Given the description of an element on the screen output the (x, y) to click on. 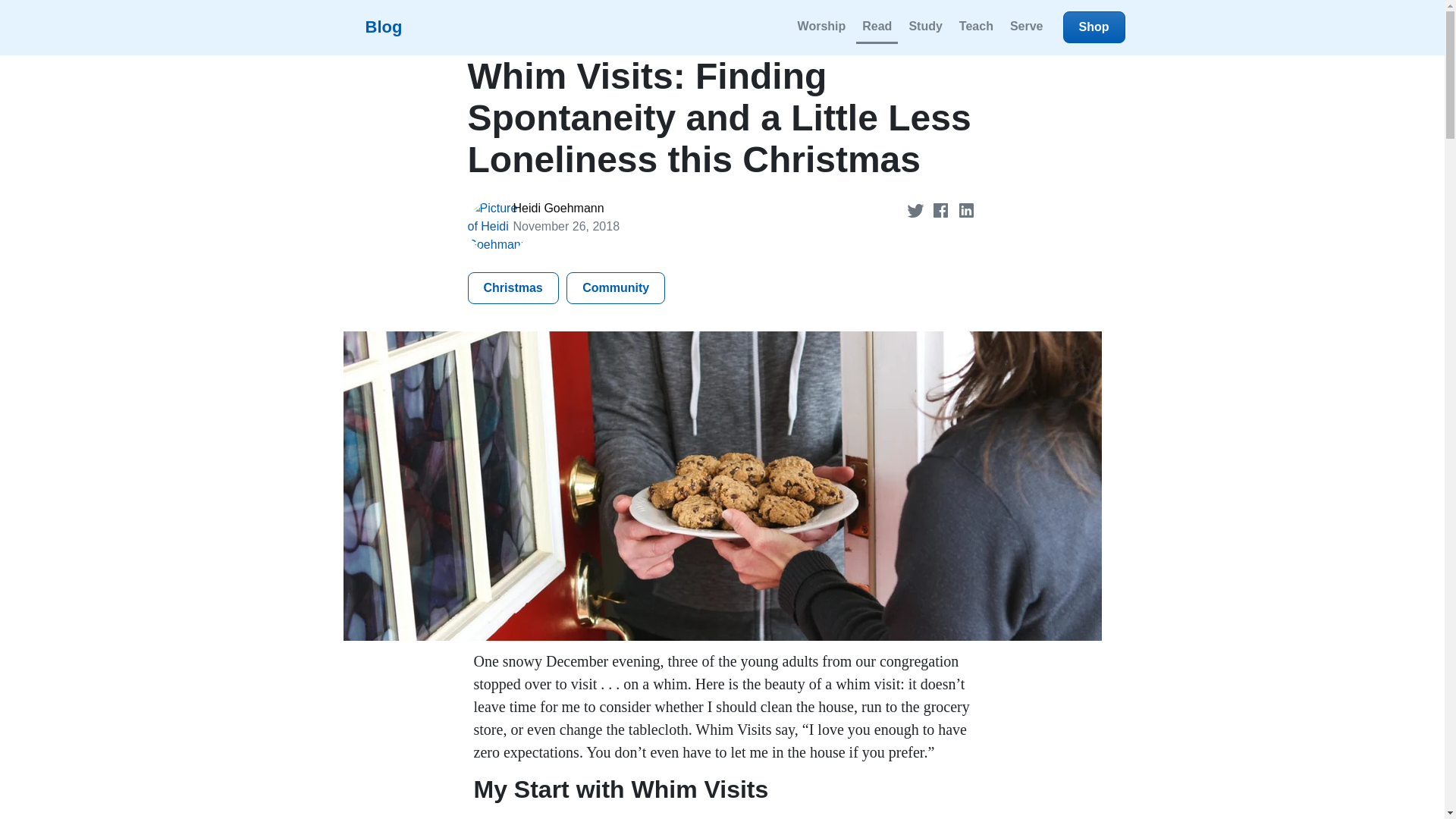
Study (924, 27)
Worship (821, 27)
Teach (975, 27)
Heidi Goehmann (558, 207)
Share on Facebook (942, 208)
Share on Twitter (917, 208)
Share on Facebook (942, 208)
Share on Twitter (917, 208)
Blog (361, 27)
Read (877, 27)
